Given the description of an element on the screen output the (x, y) to click on. 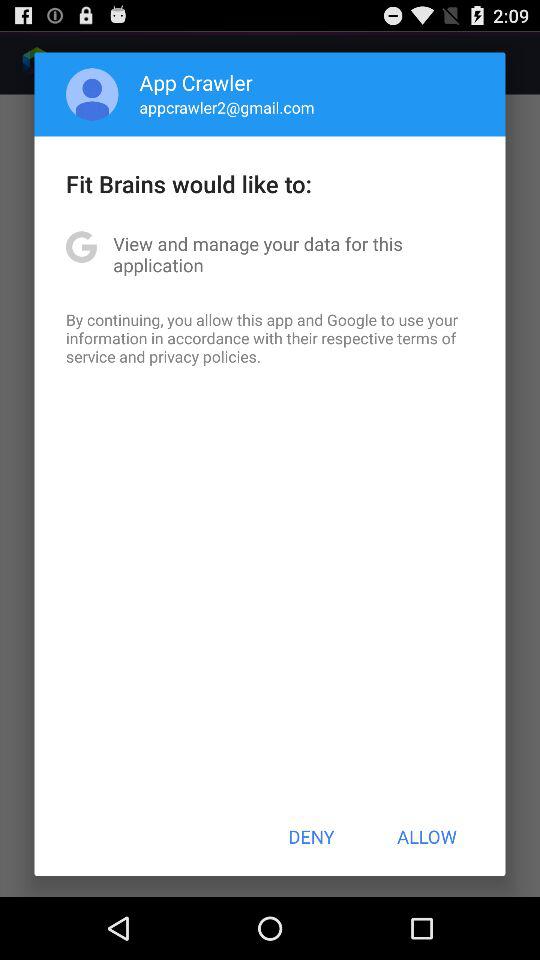
turn off the appcrawler2@gmail.com icon (226, 107)
